Given the description of an element on the screen output the (x, y) to click on. 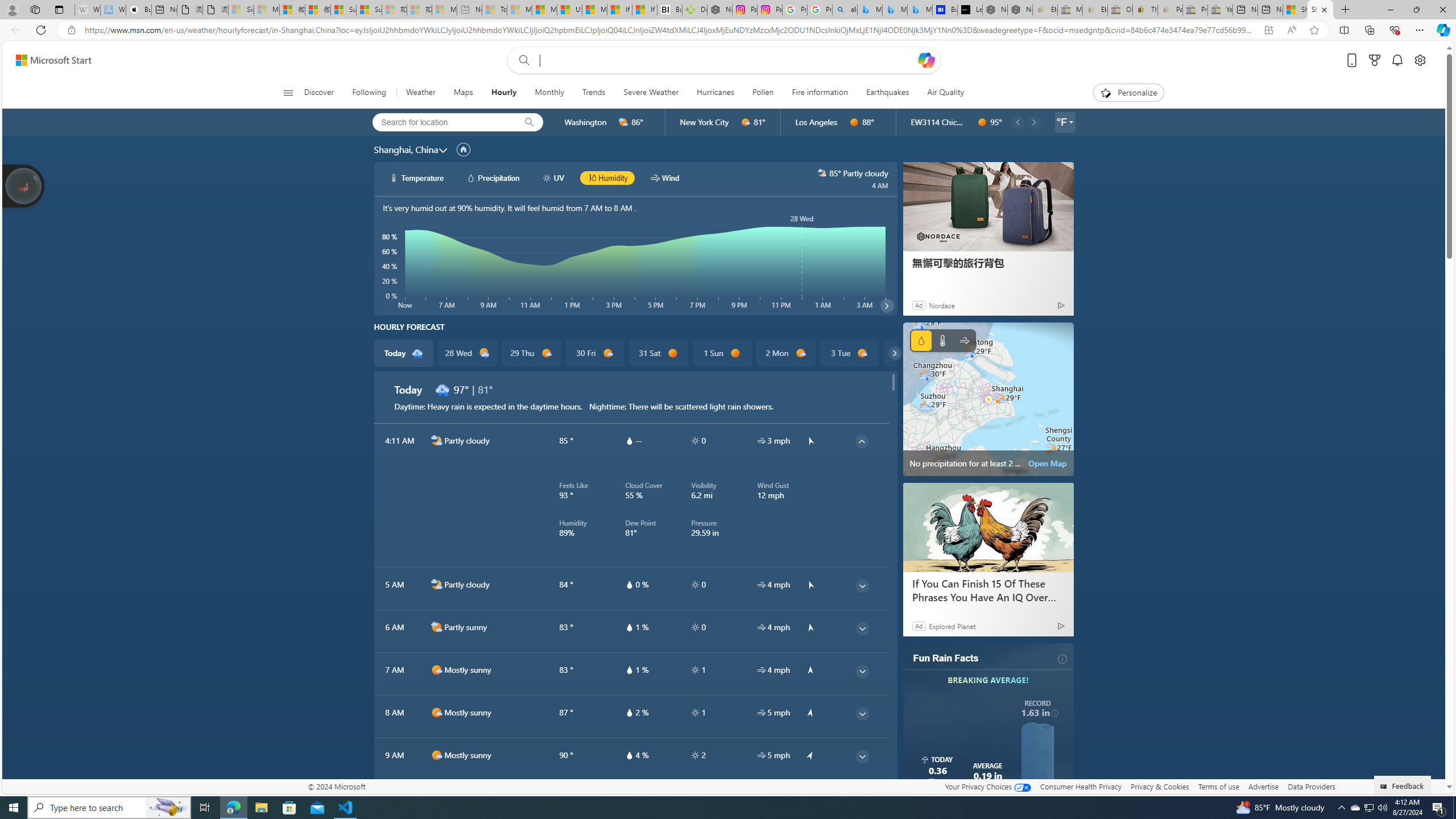
Class: feedback_link_icon-DS-EntryPoint1-1 (1384, 786)
Air Quality (940, 92)
Enter your search term (726, 59)
Privacy & Cookies (1160, 786)
Fire information (820, 92)
2 Mon d1000 (785, 352)
Wind (964, 340)
Threats and offensive language policy | eBay (1144, 9)
